Given the description of an element on the screen output the (x, y) to click on. 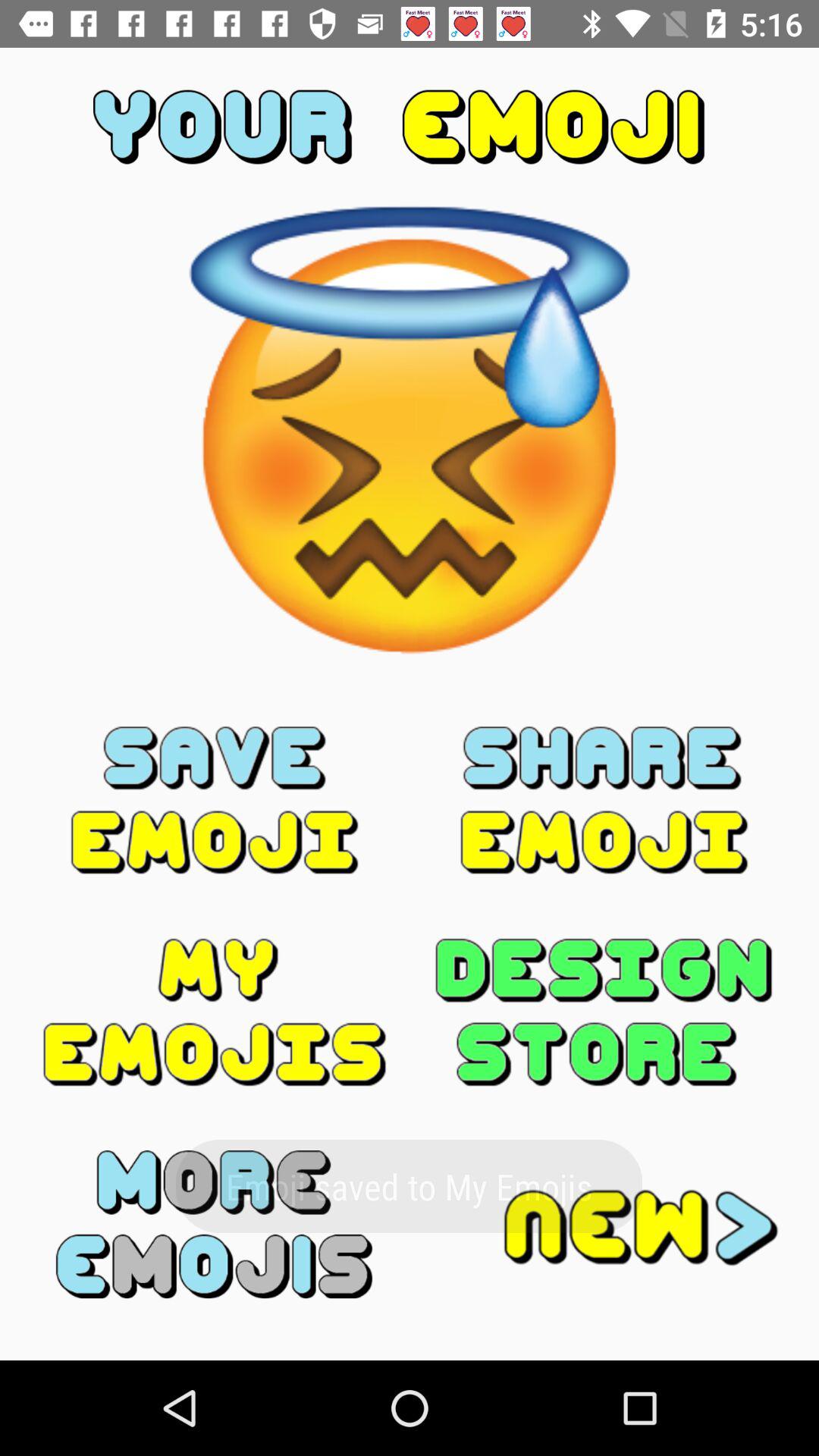
click icon on the right (604, 800)
